Given the description of an element on the screen output the (x, y) to click on. 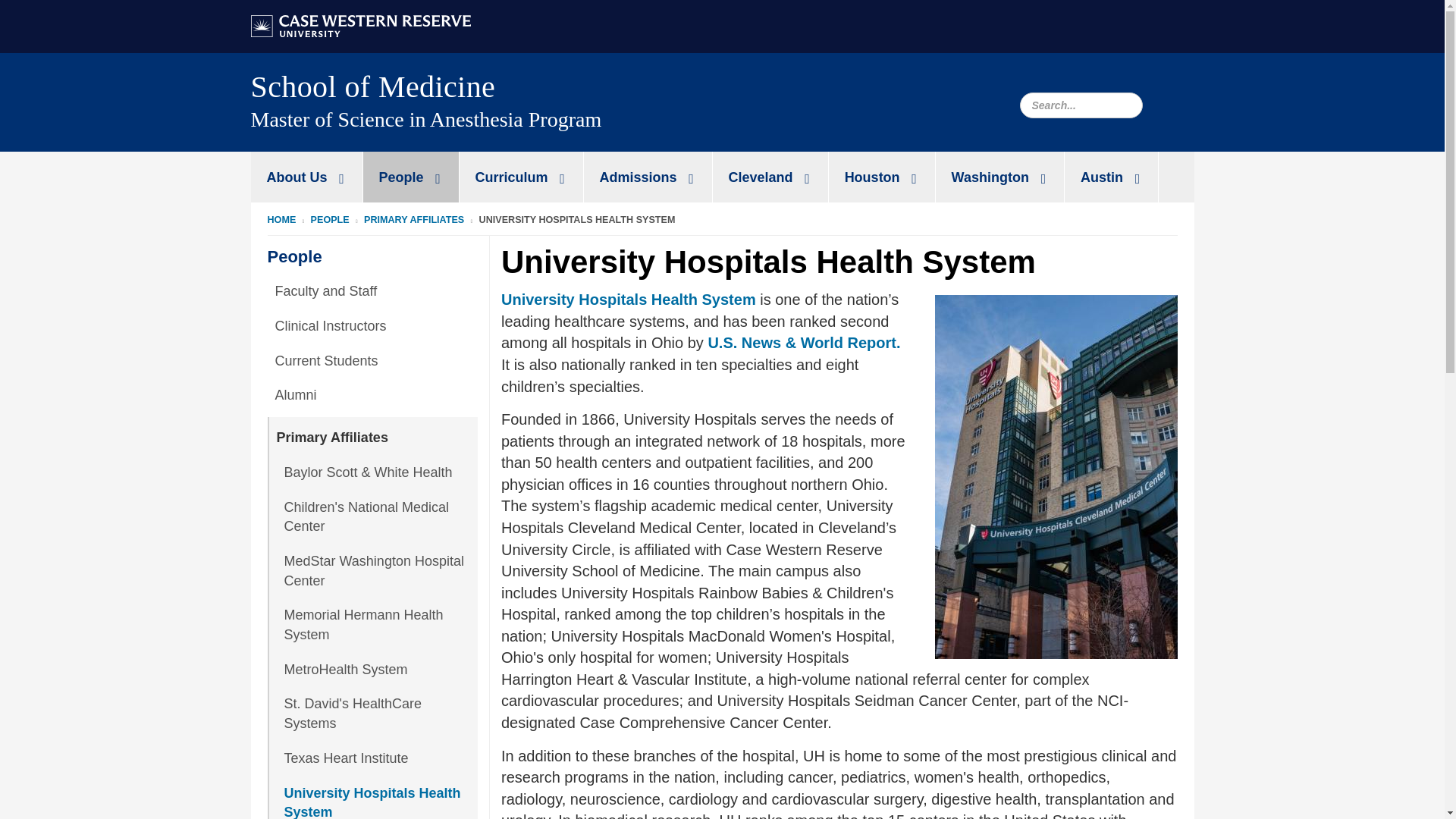
Curriculum (521, 176)
searchbox (1080, 104)
Cleveland (770, 176)
Go to case.edu (360, 24)
Master of Science in Anesthesia Program (486, 128)
About Us (305, 176)
School of Medicine (372, 86)
Admissions (647, 176)
People (410, 176)
Case Western Reserve University (360, 25)
